Given the description of an element on the screen output the (x, y) to click on. 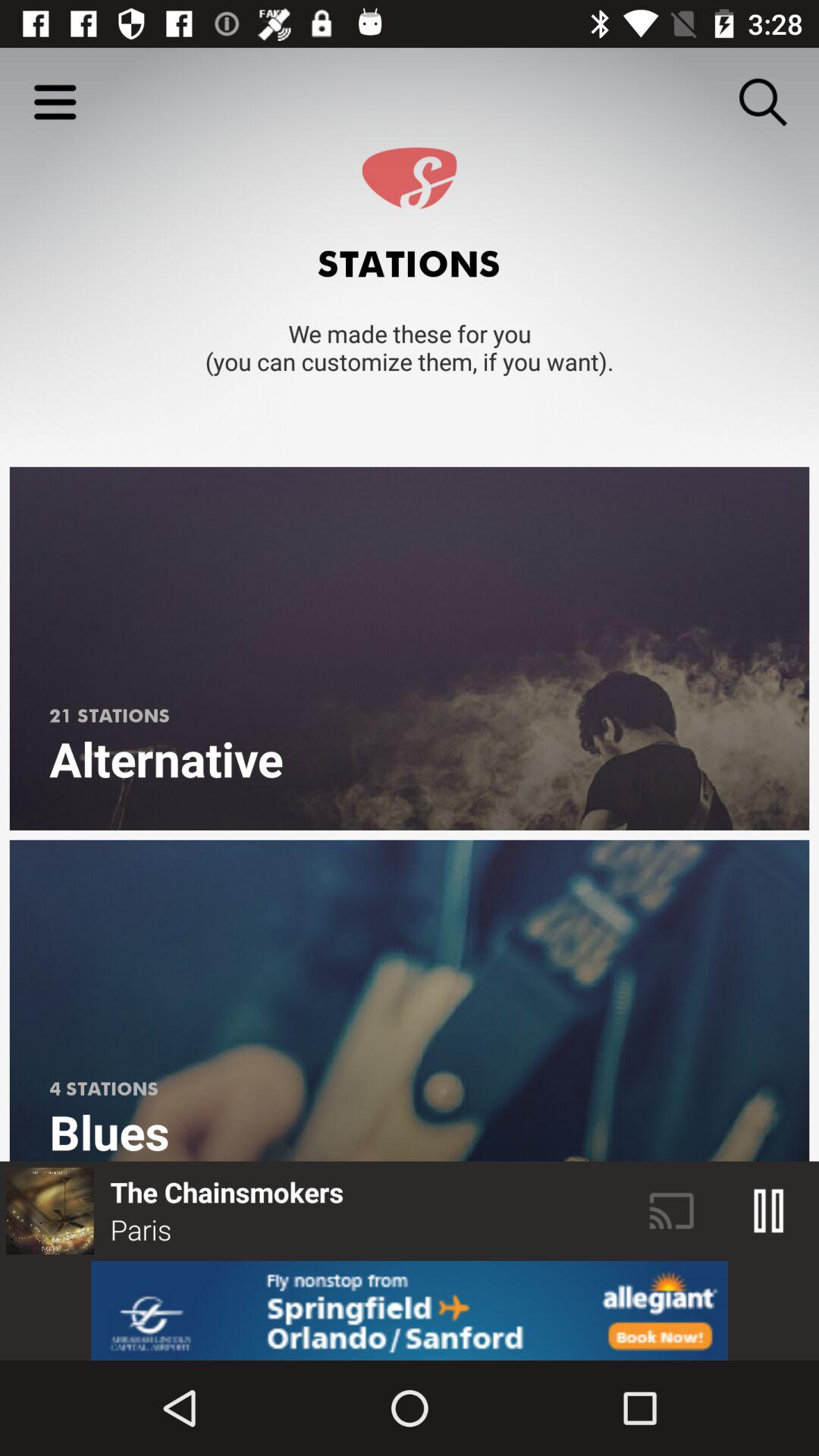
click on alternative (409, 648)
click on the icon left  next to play icon (671, 1210)
click on the second tab from the top (409, 1000)
the play button shown on the bottom right corner of the page (769, 1210)
